Given the description of an element on the screen output the (x, y) to click on. 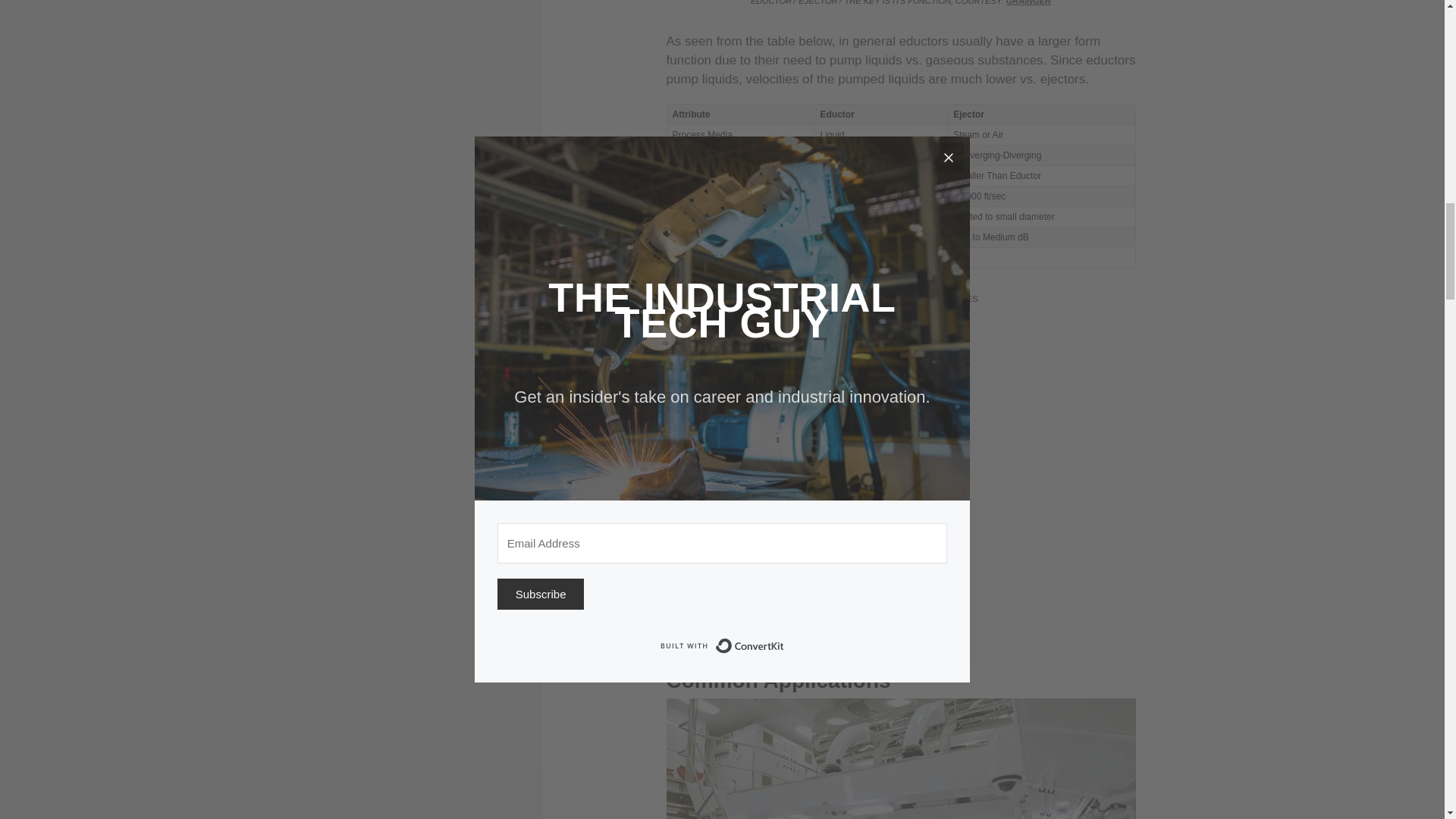
GRAINGER (1028, 2)
